Given the description of an element on the screen output the (x, y) to click on. 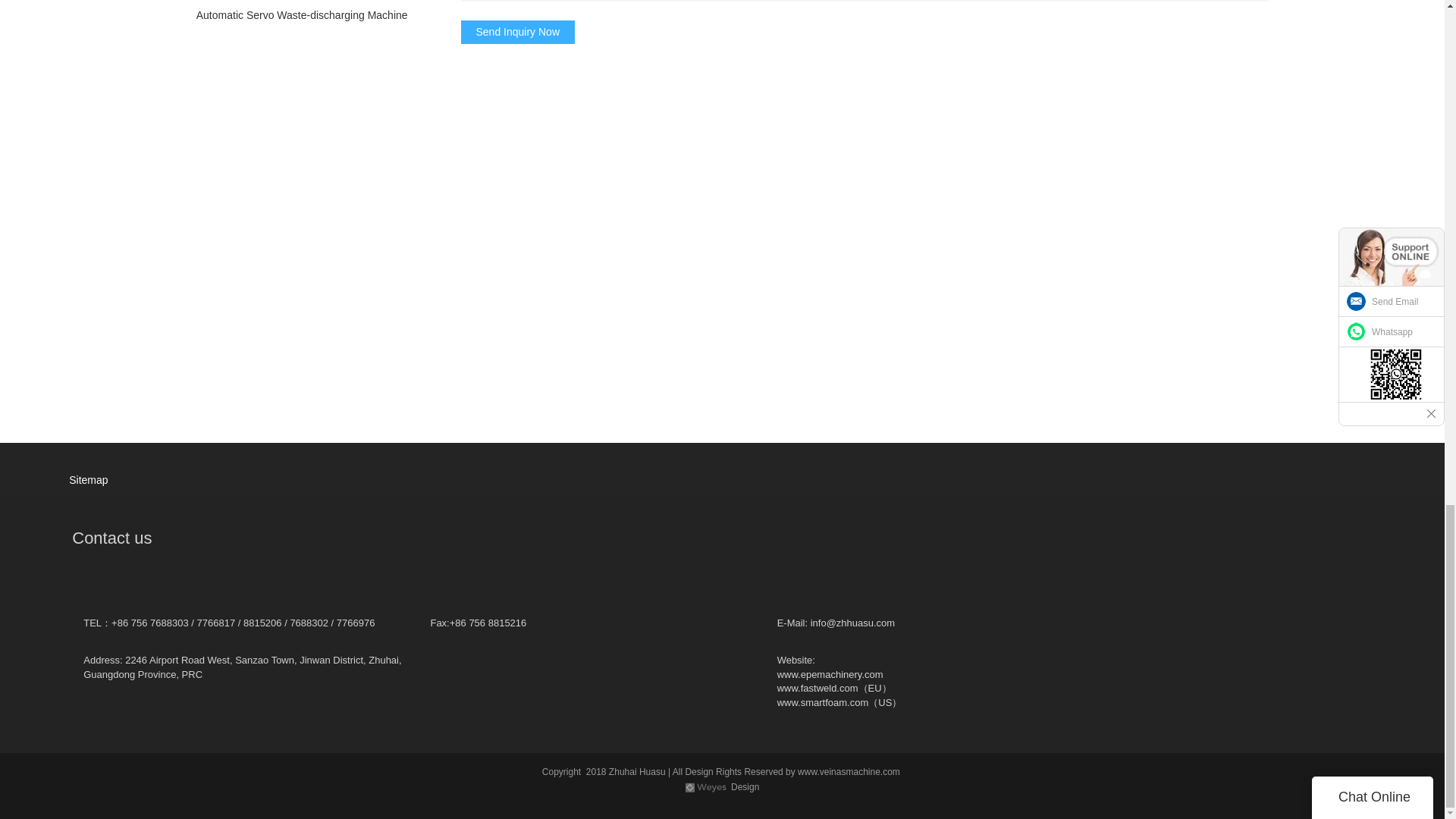
Send Inquiry Now (518, 31)
Automatic Servo Waste-discharging Machine (306, 15)
